Given the description of an element on the screen output the (x, y) to click on. 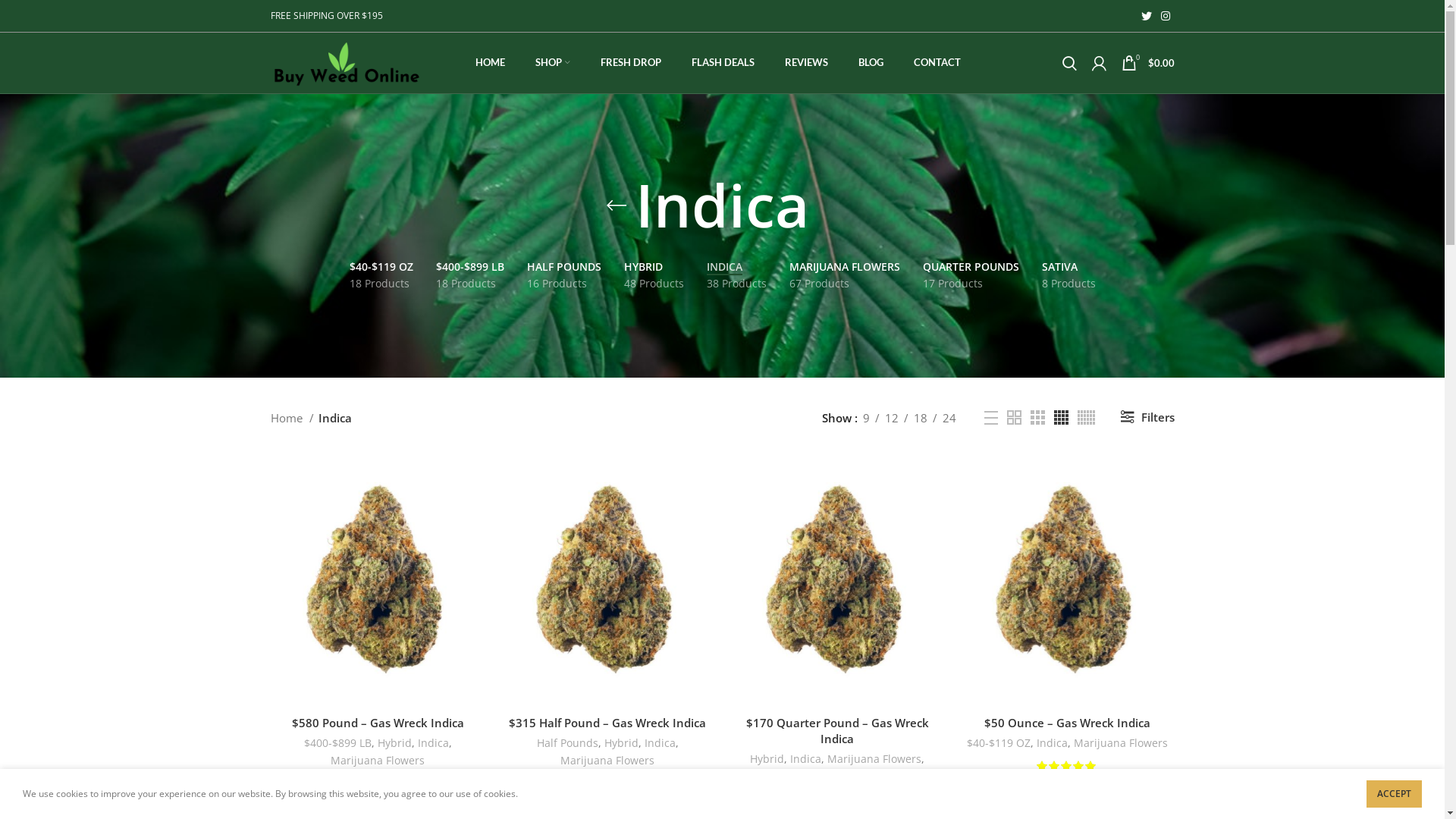
Filters Element type: text (1145, 417)
$40-$119 OZ
18 Products Element type: text (381, 275)
$400-$899 LB Element type: text (336, 743)
HOME Element type: text (489, 62)
MARIJUANA FLOWERS
67 Products Element type: text (844, 275)
Indica Element type: text (1050, 743)
Search Element type: hover (1068, 62)
Marijuana Flowers Element type: text (377, 760)
Marijuana Flowers Element type: text (1120, 743)
Marijuana Flowers Element type: text (874, 759)
SATIVA
8 Products Element type: text (1067, 275)
Home Element type: text (291, 417)
FLASH DEALS Element type: text (722, 62)
REVIEWS Element type: text (805, 62)
$40-$119 OZ Element type: text (997, 743)
BLOG Element type: text (870, 62)
Half Pounds Element type: text (567, 743)
9 Element type: text (866, 417)
QUARTER POUNDS
17 Products Element type: text (970, 275)
INDICA
38 Products Element type: text (735, 275)
HALF POUNDS
16 Products Element type: text (563, 275)
Indica Element type: text (805, 759)
My account Element type: hover (1098, 62)
18 Element type: text (920, 417)
12 Element type: text (891, 417)
$400-$899 LB
18 Products Element type: text (469, 275)
24 Element type: text (949, 417)
Indica Element type: text (432, 743)
ACCEPT Element type: text (1393, 793)
Indica Element type: text (659, 743)
HYBRID
48 Products Element type: text (653, 275)
Hybrid Element type: text (766, 759)
FRESH DROP Element type: text (630, 62)
Hybrid Element type: text (620, 743)
SHOP Element type: text (552, 62)
Marijuana Flowers Element type: text (607, 760)
0
$0.00 Element type: text (1147, 62)
Quarter Pounds Element type: text (836, 776)
Hybrid Element type: text (394, 743)
CONTACT Element type: text (936, 62)
